Given the description of an element on the screen output the (x, y) to click on. 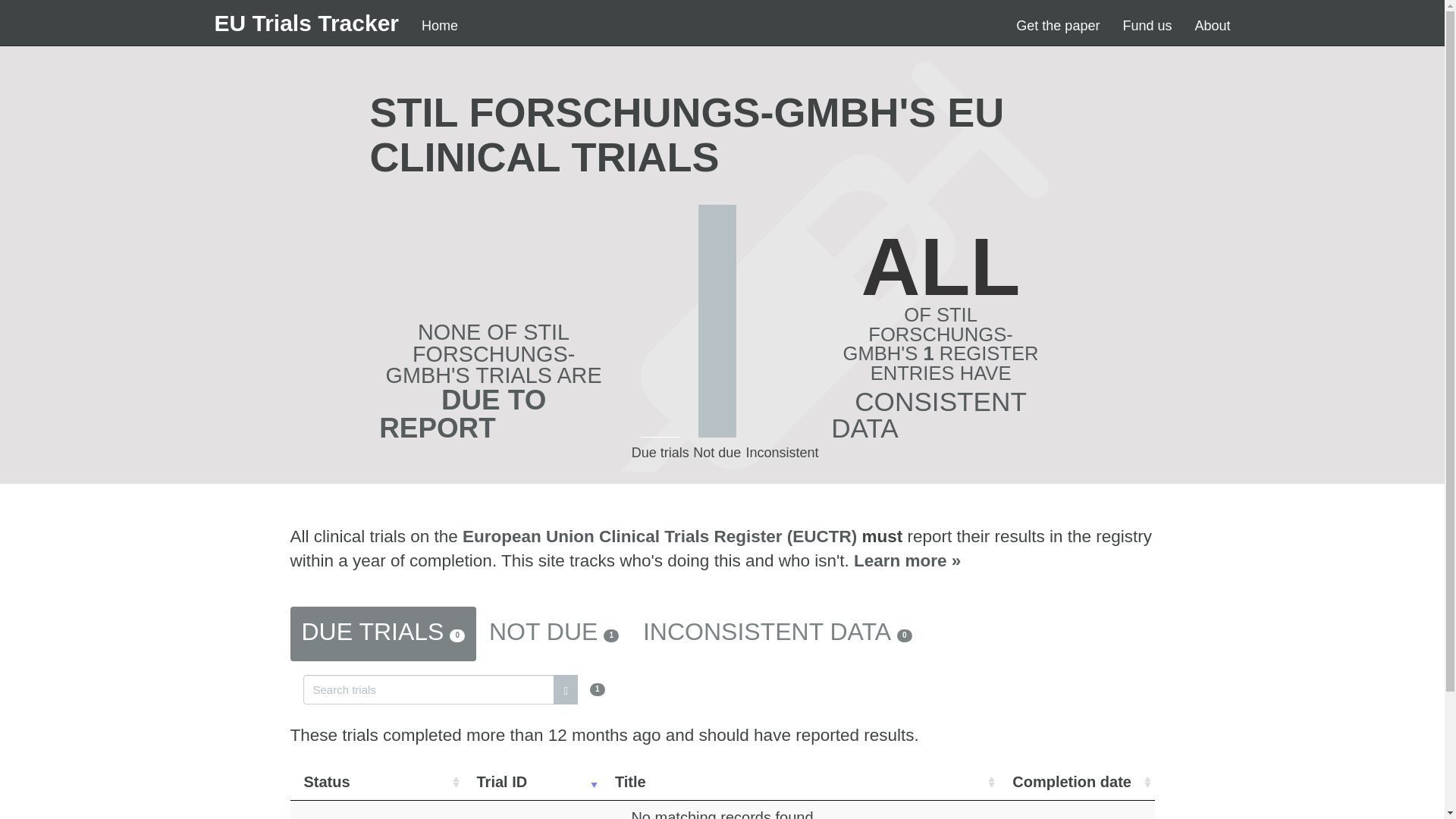
About (1211, 25)
EU Trials Tracker (306, 22)
Home (439, 25)
Fund us (1146, 25)
INCONSISTENT DATA0 (777, 633)
NOT DUE1 (553, 633)
1 (453, 687)
Get the paper (1057, 25)
DUE TRIALS0 (382, 633)
